Given the description of an element on the screen output the (x, y) to click on. 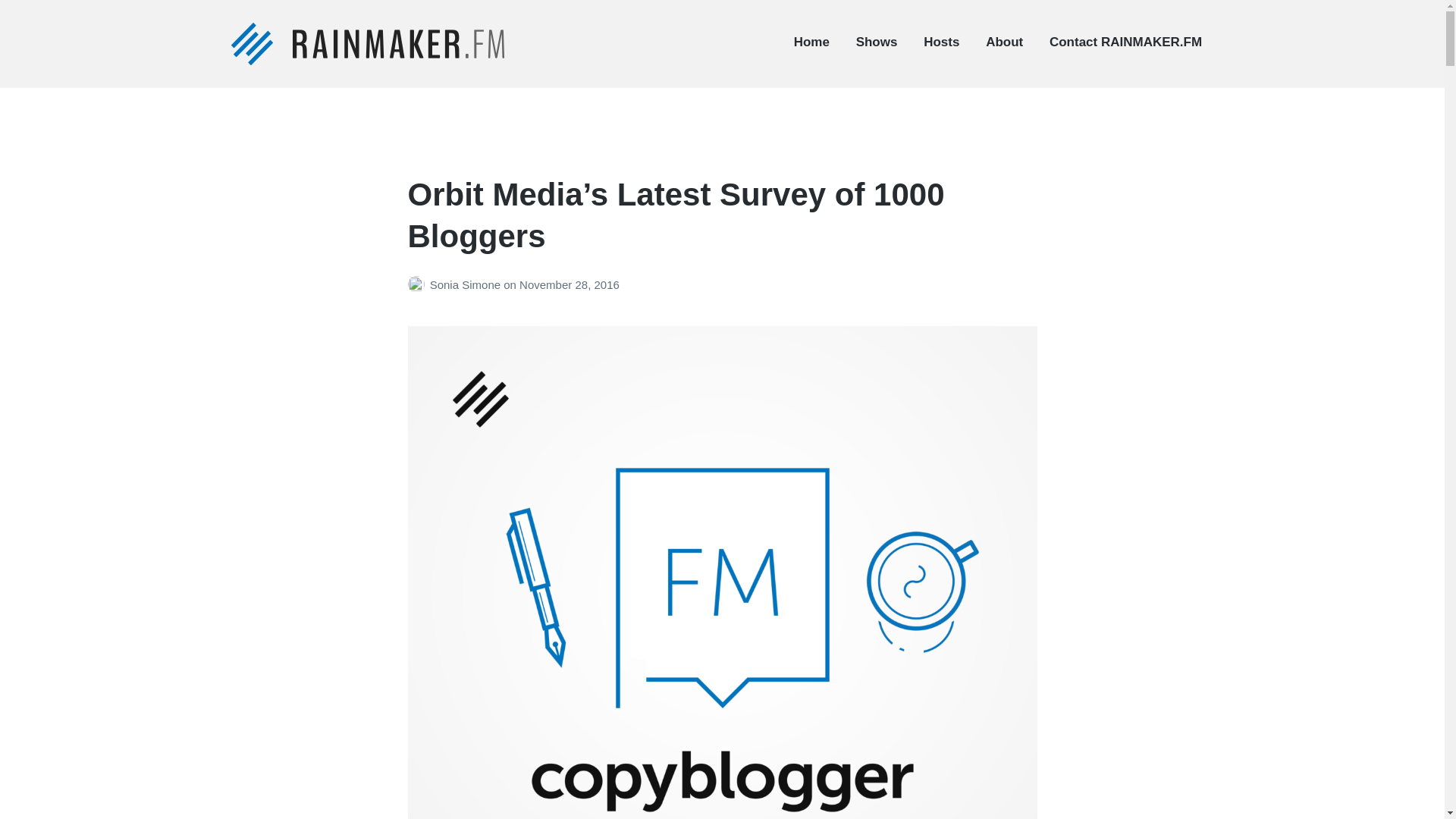
Shows (877, 42)
Posts by Sonia Simone (418, 284)
About (1004, 42)
Home (811, 42)
Hosts (941, 42)
Sonia Simone (466, 284)
RAINMAKER.FM (308, 82)
Contact RAINMAKER.FM (1125, 42)
